Given the description of an element on the screen output the (x, y) to click on. 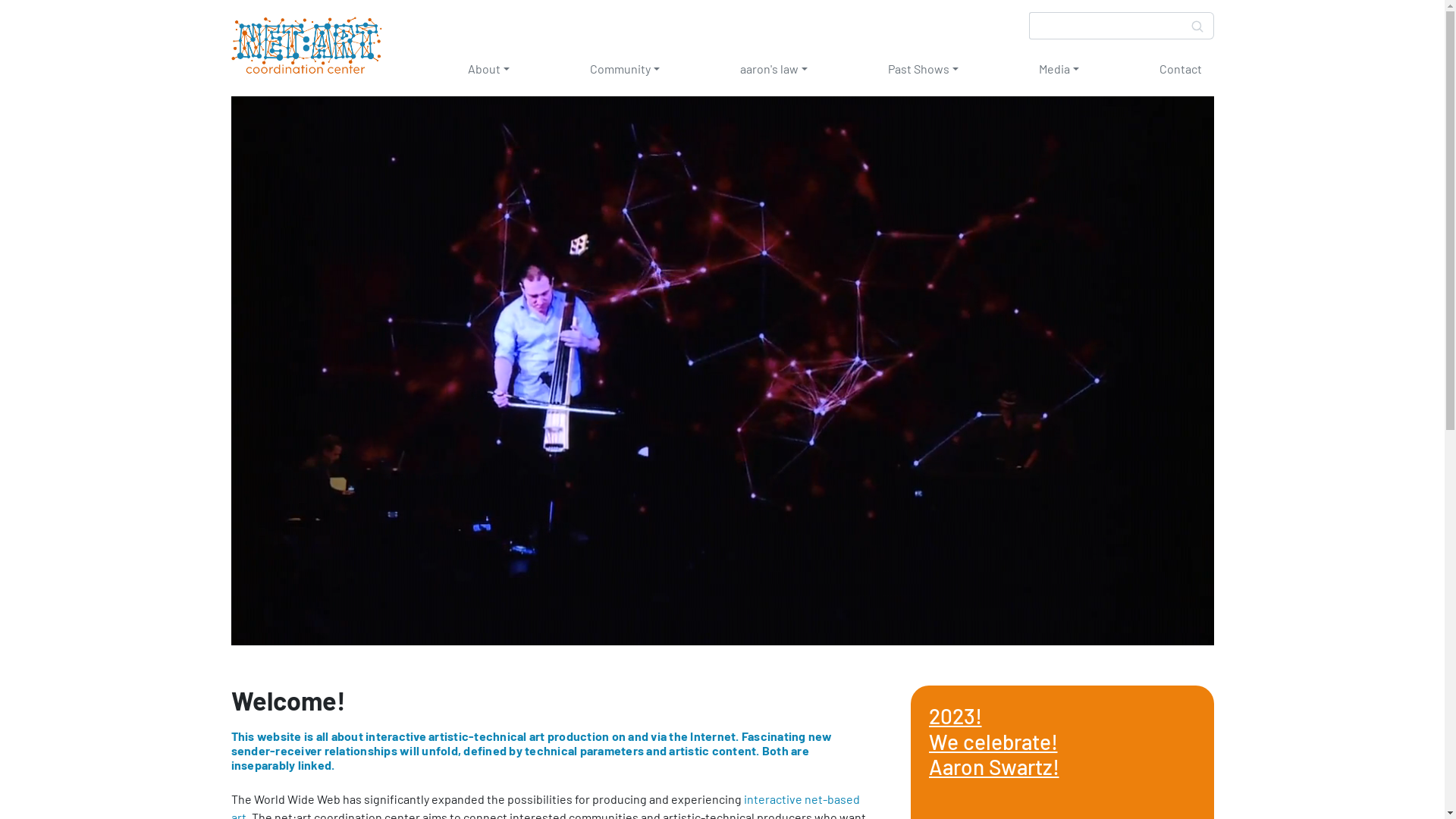
Search Element type: text (1197, 25)
Past Shows Element type: text (922, 68)
Contact Element type: text (1179, 68)
Media Element type: text (1058, 68)
Community Element type: text (624, 68)
2023!
We celebrate!
Aaron Swartz! Element type: text (993, 740)
aaron's law Element type: text (773, 68)
About Element type: text (487, 68)
